Given the description of an element on the screen output the (x, y) to click on. 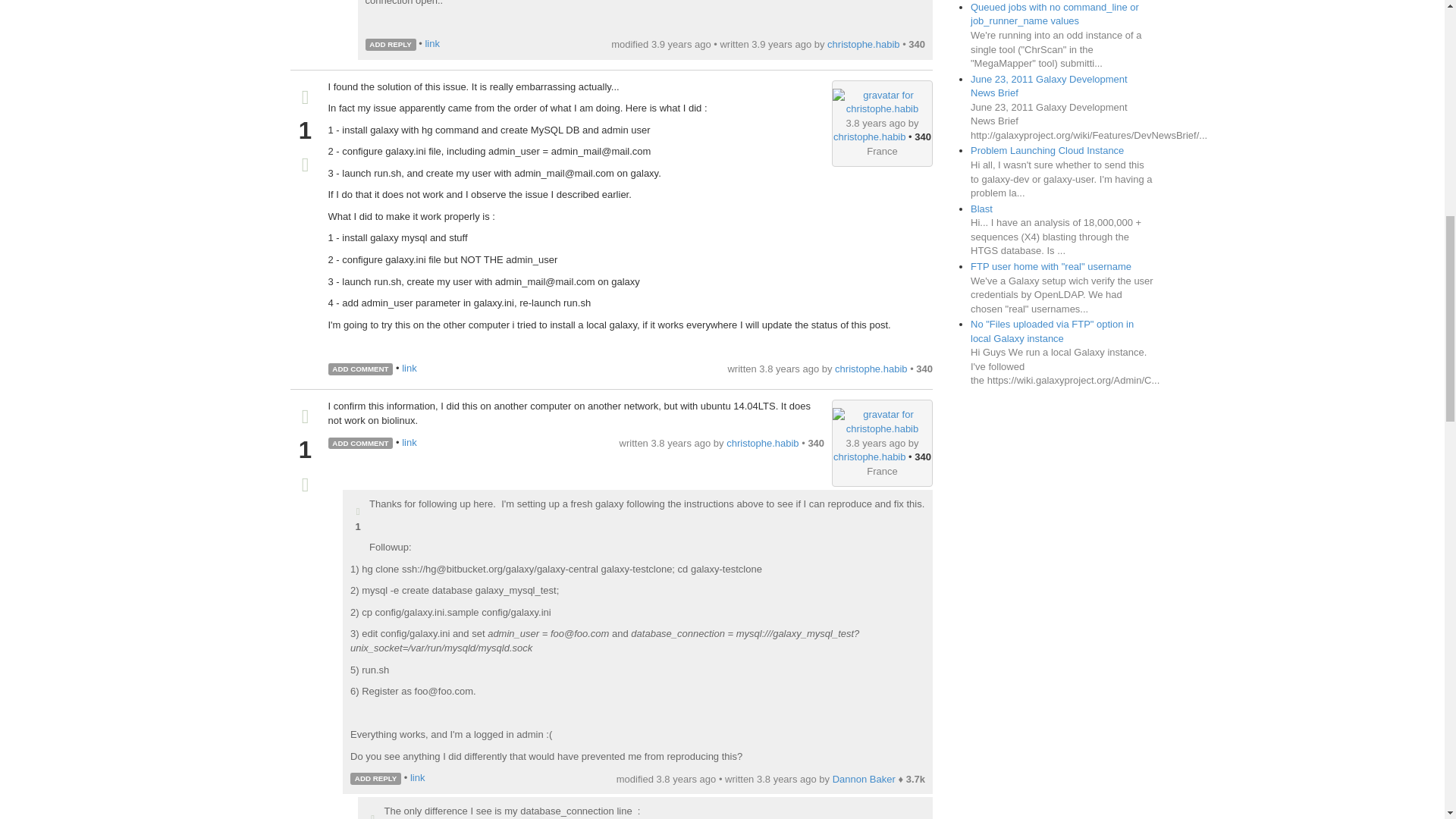
Upvote! (372, 815)
Upvote! (304, 98)
Upvote! (357, 512)
Bookmark! (304, 166)
Bookmark! (304, 486)
Upvote! (304, 418)
